Given the description of an element on the screen output the (x, y) to click on. 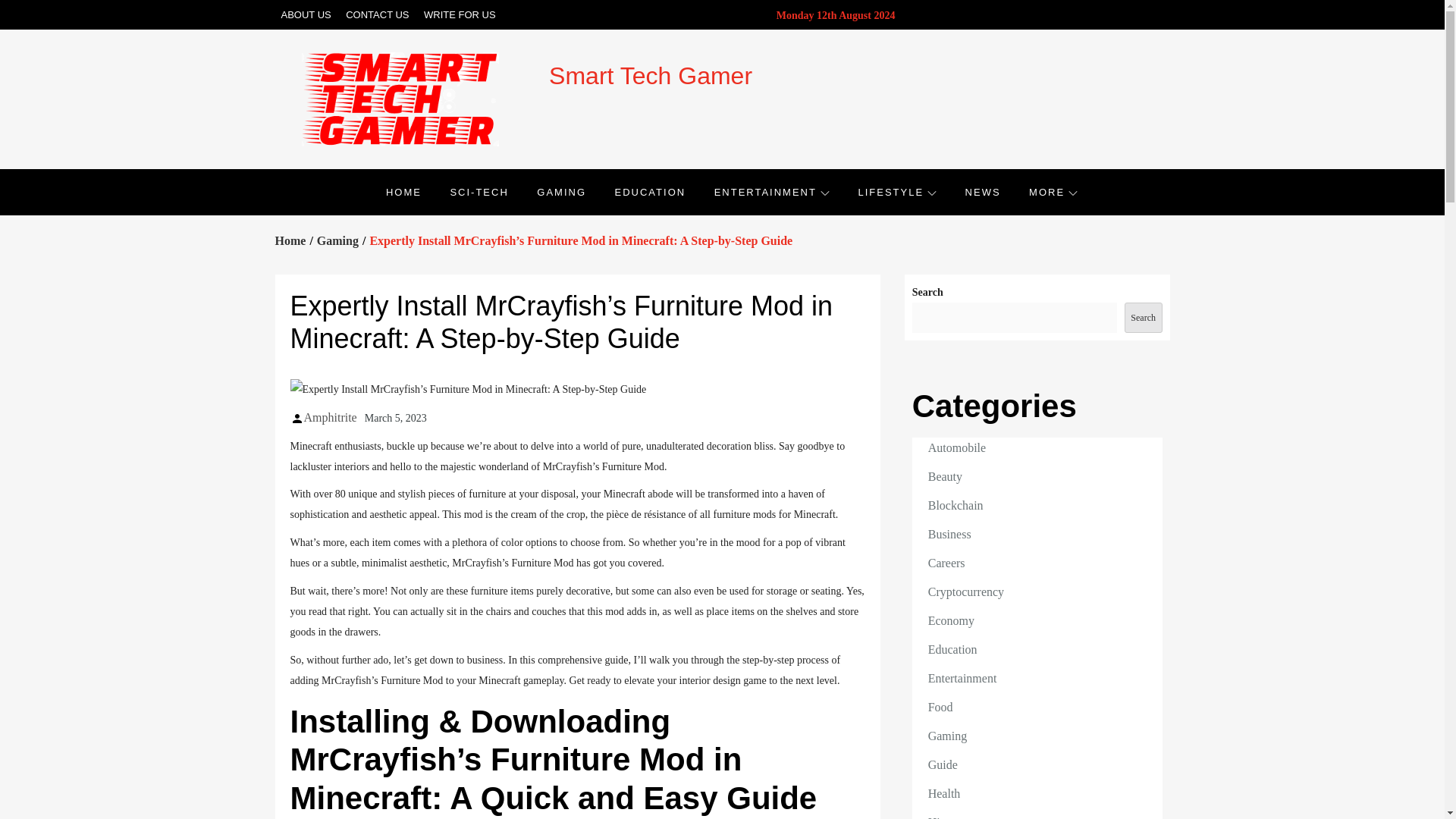
WRITE FOR US (459, 14)
Amphitrite (329, 417)
HOME (402, 191)
ABOUT US (305, 14)
March 5, 2023 (395, 417)
ENTERTAINMENT (772, 191)
NEWS (982, 191)
MORE (1053, 191)
Smart Tech Gamer (650, 75)
LIFESTYLE (896, 191)
